Given the description of an element on the screen output the (x, y) to click on. 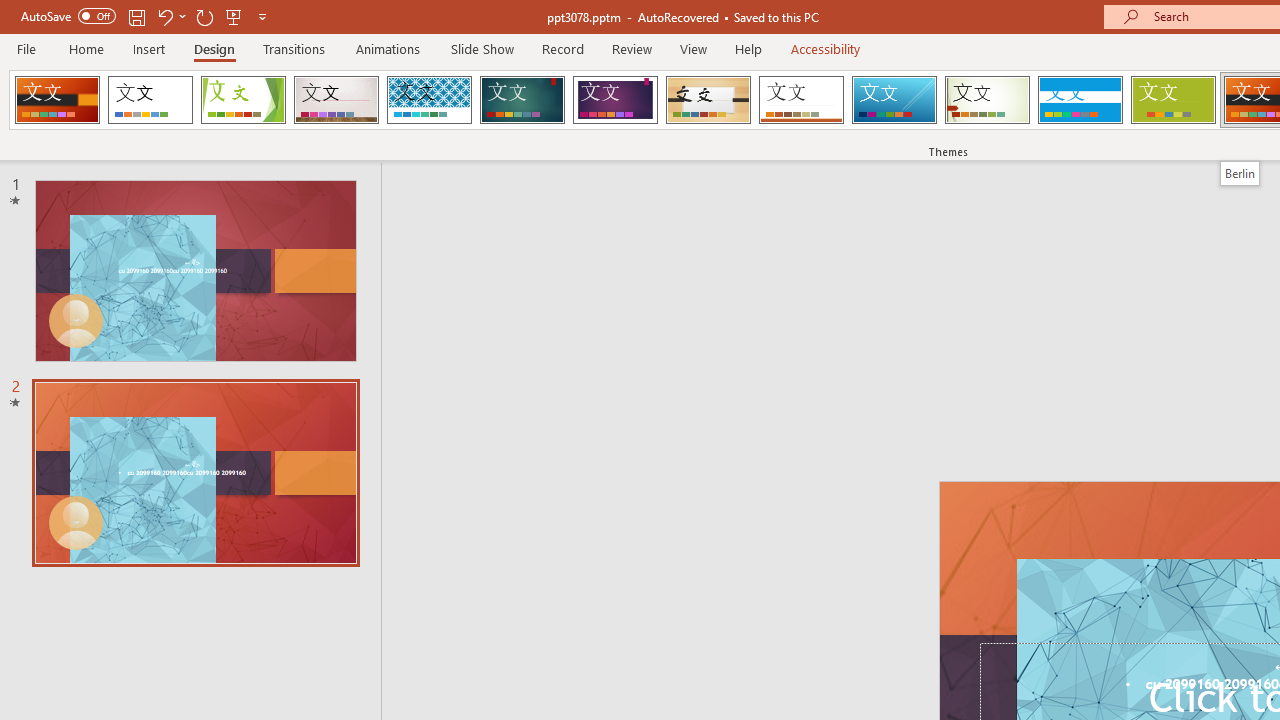
Wisp (987, 100)
Dividend (57, 100)
Retrospect (801, 100)
Facet (243, 100)
Office Theme (150, 100)
Ion Boardroom (615, 100)
